Given the description of an element on the screen output the (x, y) to click on. 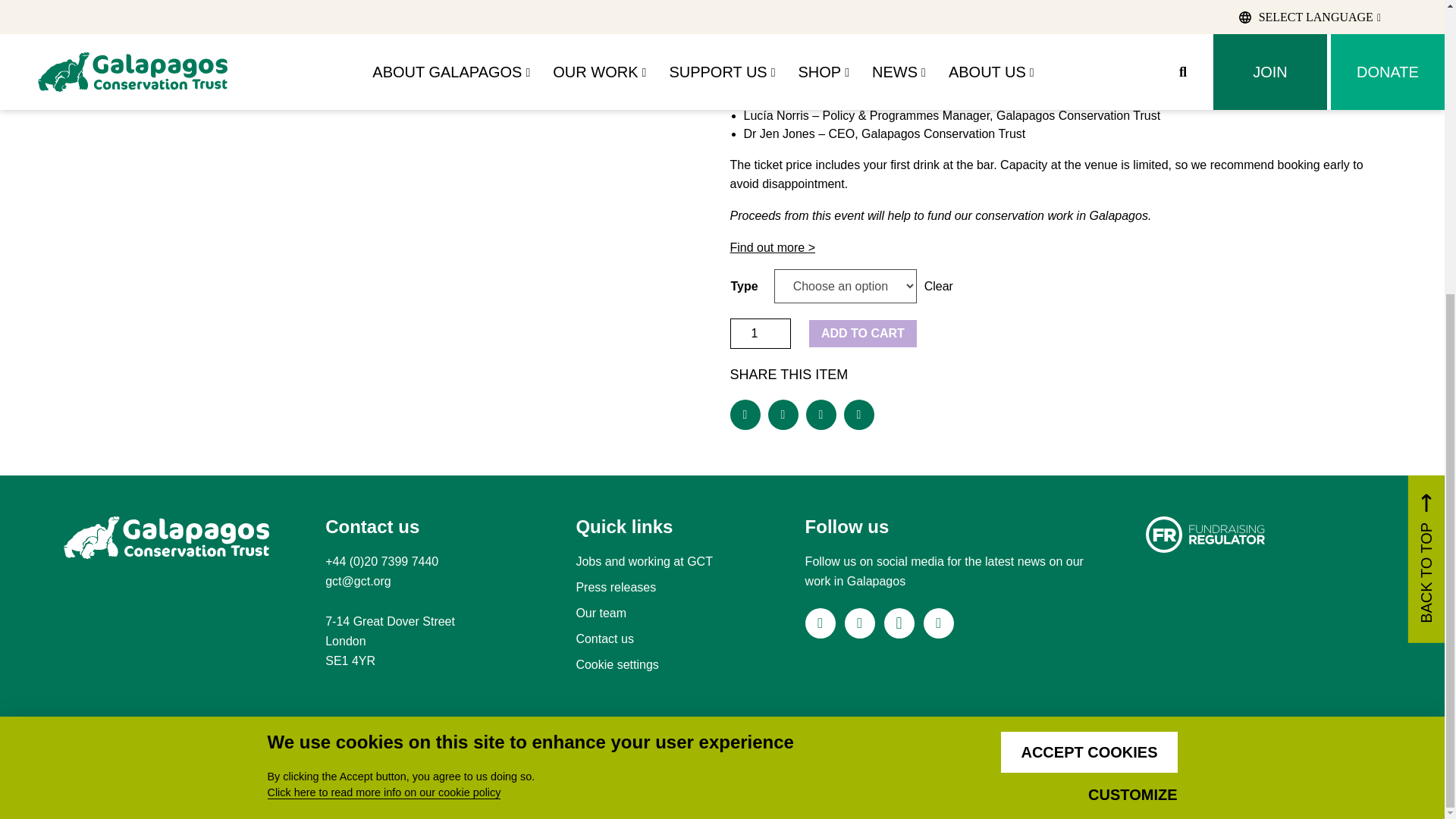
1 (759, 333)
